Given the description of an element on the screen output the (x, y) to click on. 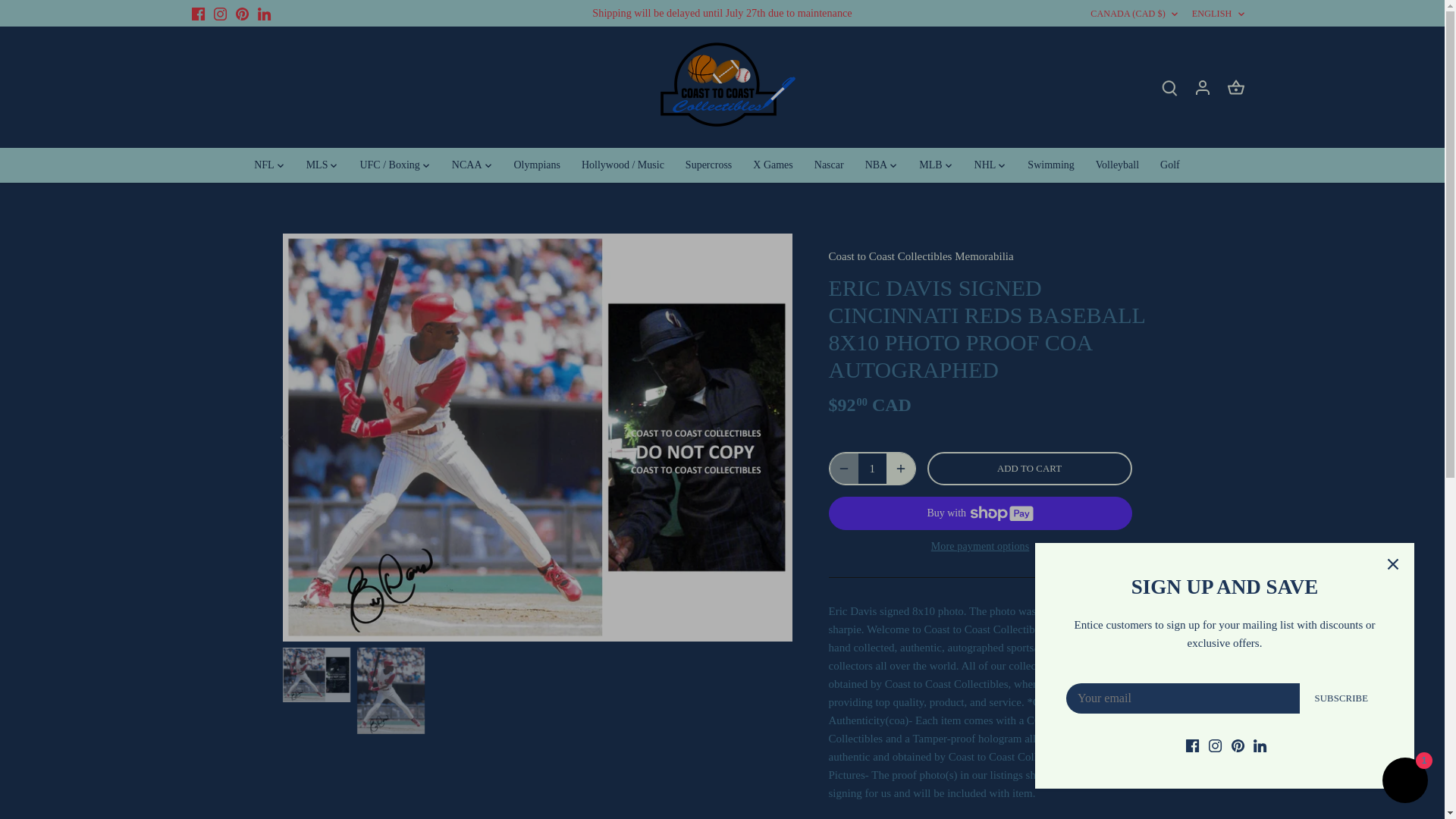
1 (872, 468)
Shopify online store chat (1404, 781)
Facebook (196, 13)
Pinterest (241, 13)
Instagram (220, 13)
